Given the description of an element on the screen output the (x, y) to click on. 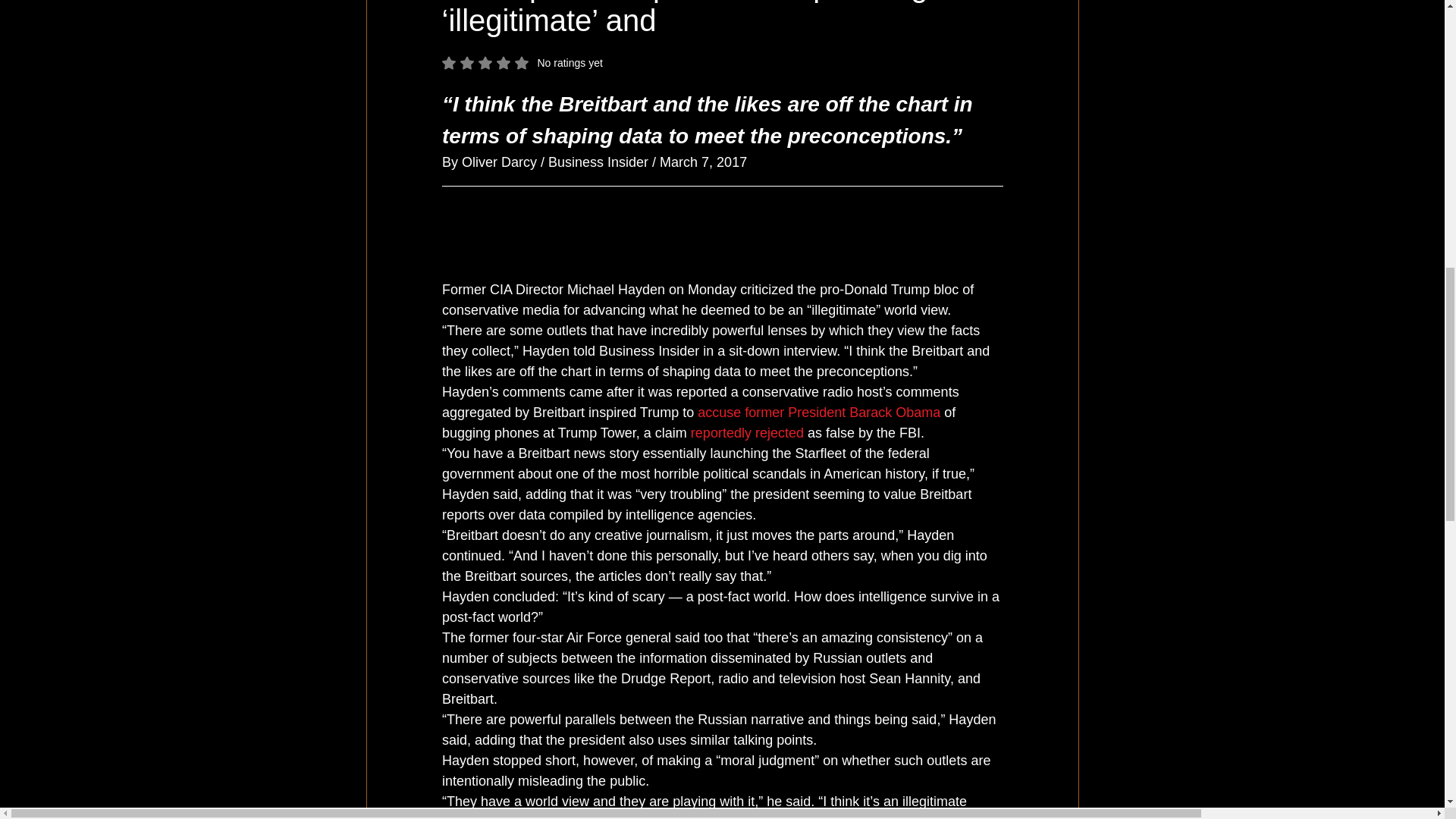
reportedly rejected (746, 432)
accuse former President Barack Obama (818, 412)
